Given the description of an element on the screen output the (x, y) to click on. 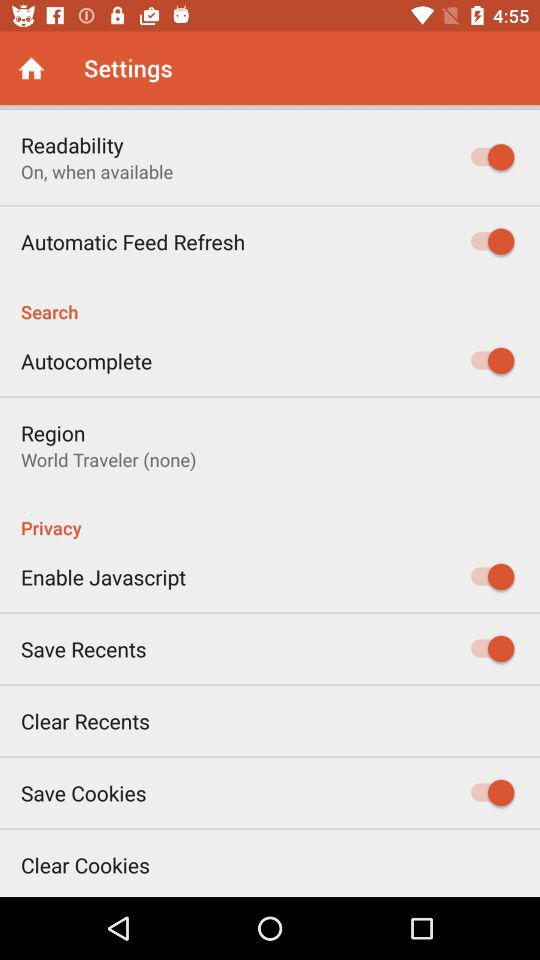
jump to privacy (270, 517)
